Given the description of an element on the screen output the (x, y) to click on. 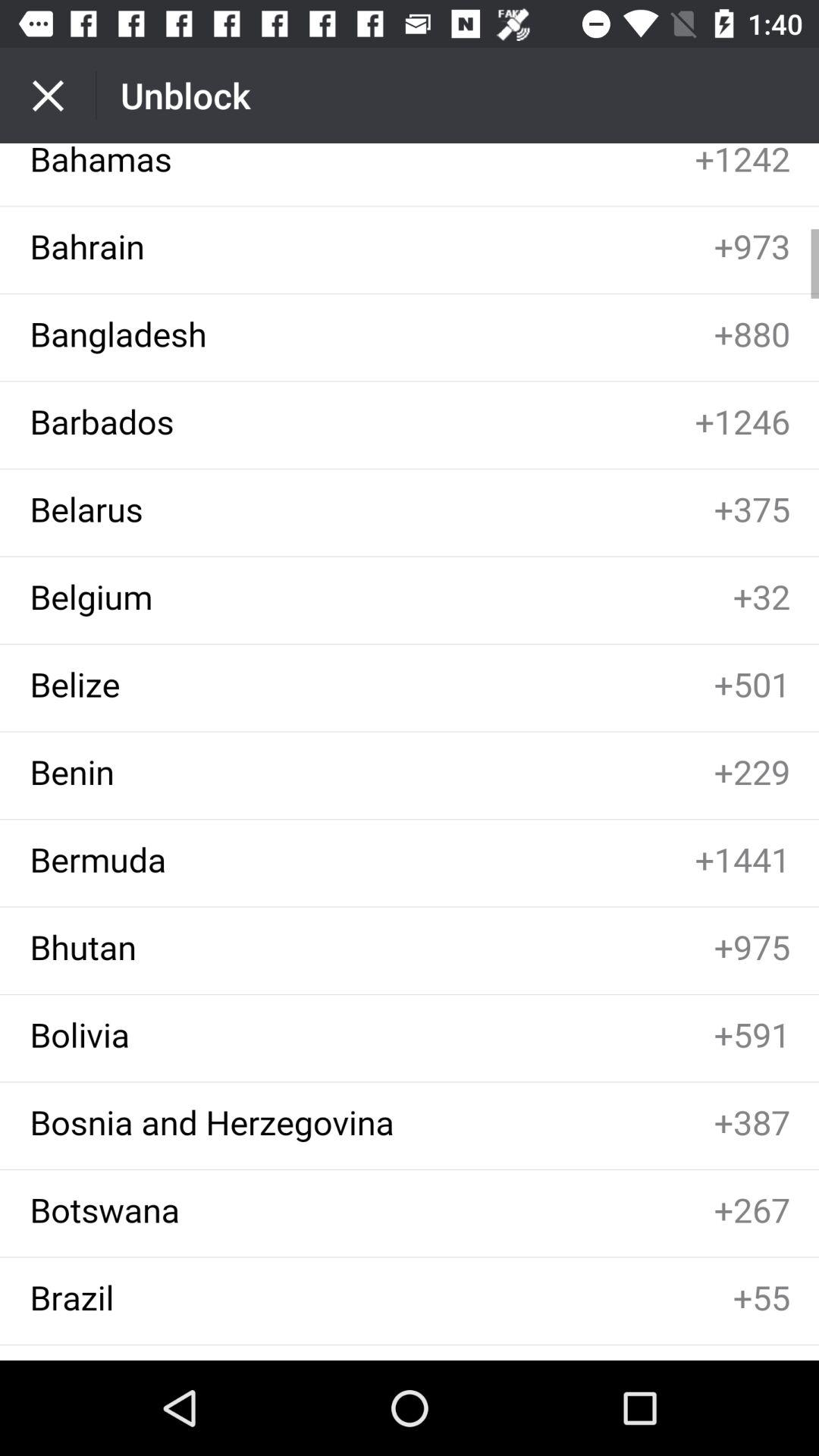
unblock page (409, 751)
